Given the description of an element on the screen output the (x, y) to click on. 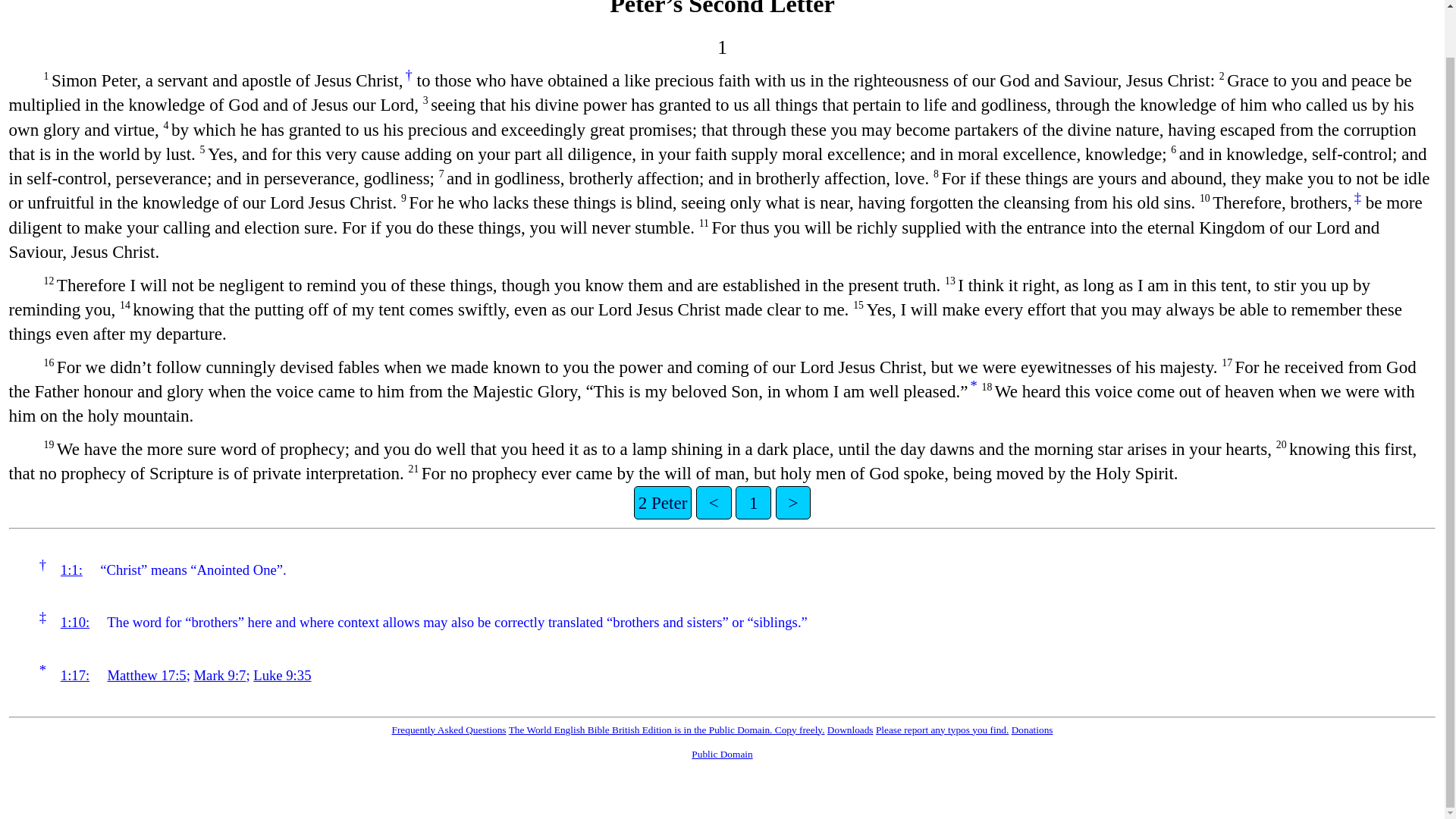
Downloads (850, 729)
Please report any typos you find. (942, 729)
Matthew 17:5 (146, 675)
Public Domain (721, 754)
Frequently Asked Questions (448, 729)
1 (753, 502)
Donations (1031, 729)
Luke 9:35 (282, 675)
2 Peter (663, 502)
Mark 9:7 (219, 675)
1:1: (71, 569)
1:17: (74, 675)
1:10: (74, 621)
